Given the description of an element on the screen output the (x, y) to click on. 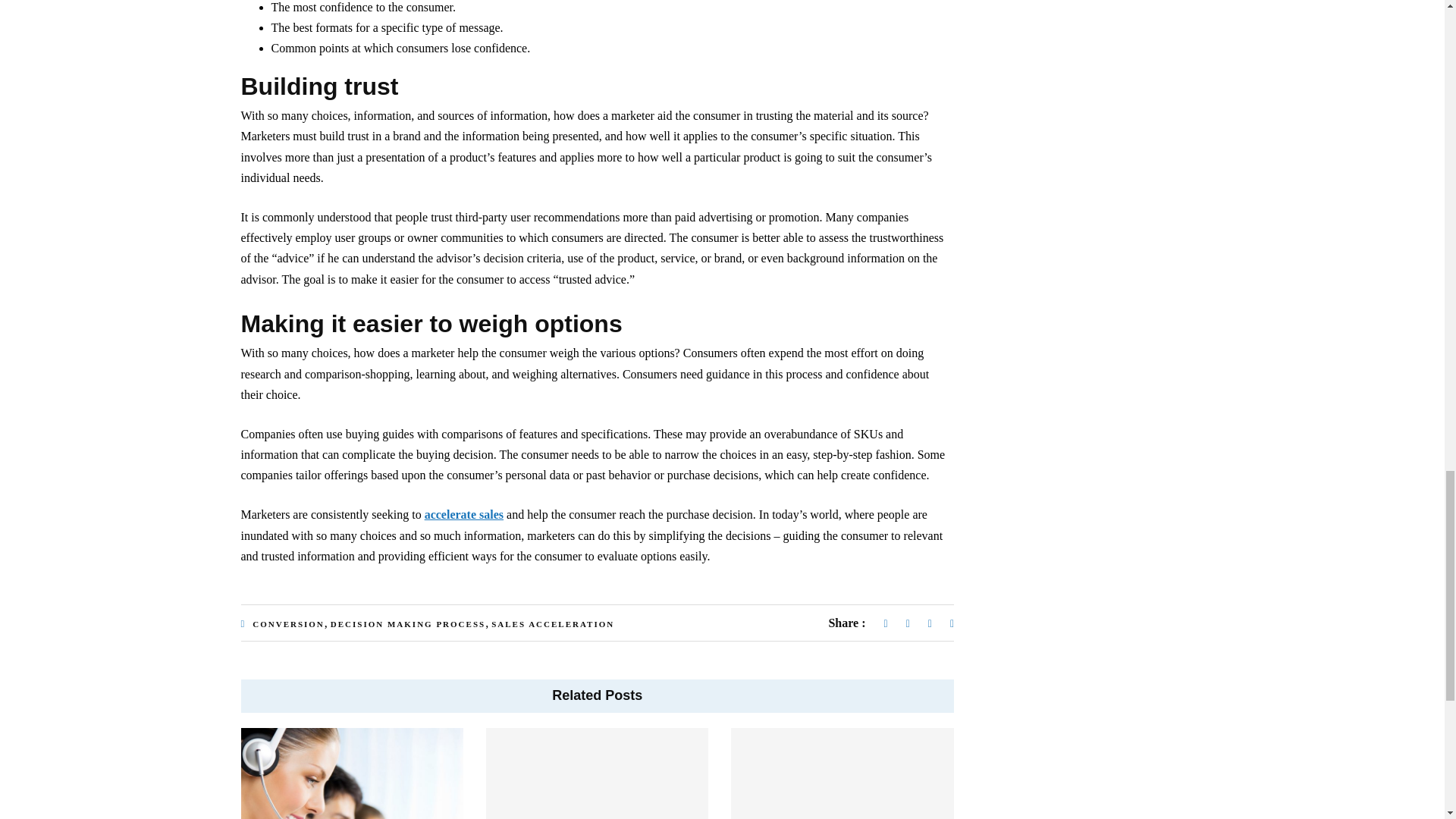
CONVERSION (287, 623)
accelerate sales (464, 513)
SALES ACCELERATION (553, 623)
DECISION MAKING PROCESS (407, 623)
